Given the description of an element on the screen output the (x, y) to click on. 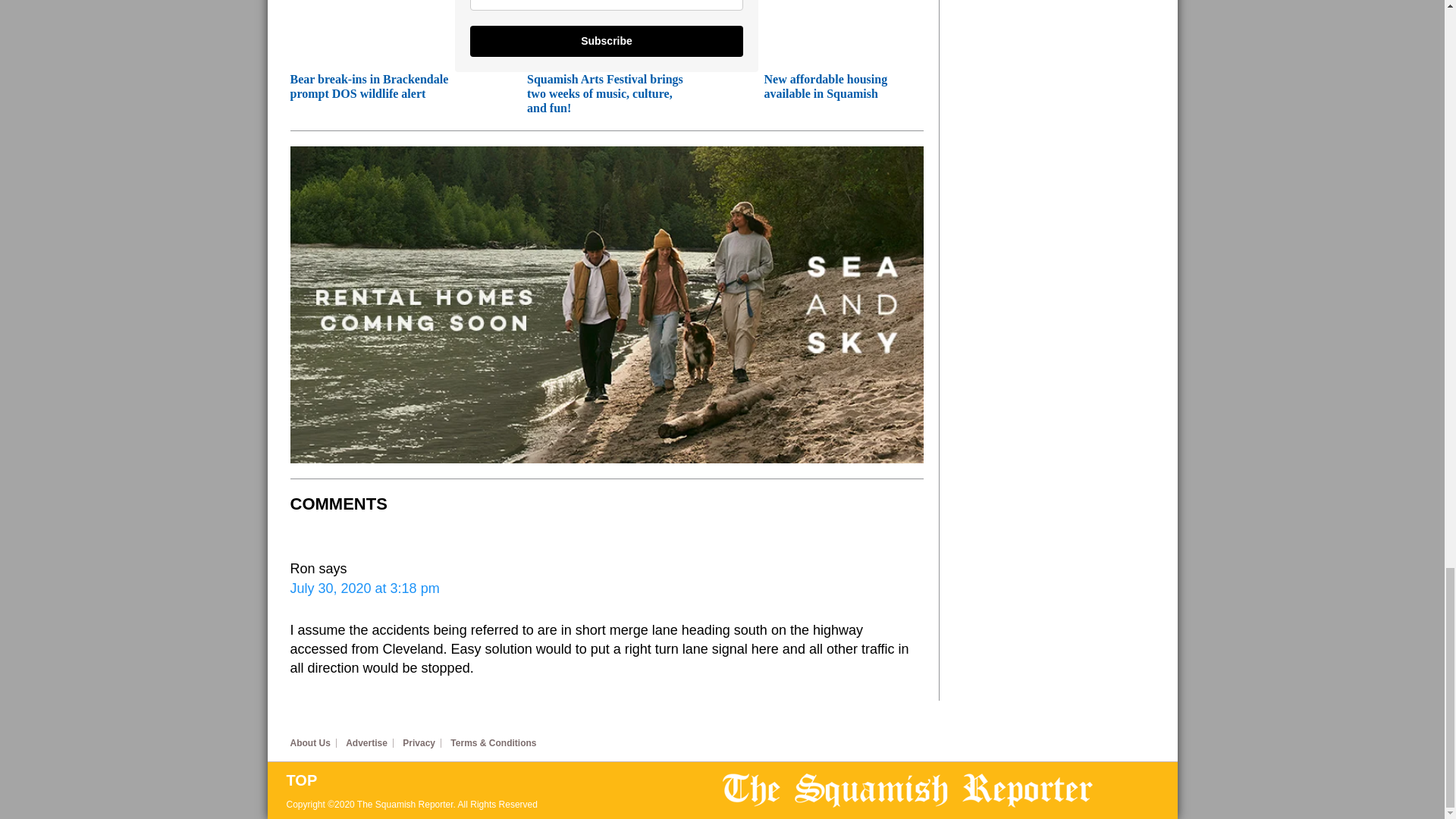
Back To Top (504, 780)
July 30, 2020 at 3:18 pm (364, 588)
Subscribe (606, 40)
